Given the description of an element on the screen output the (x, y) to click on. 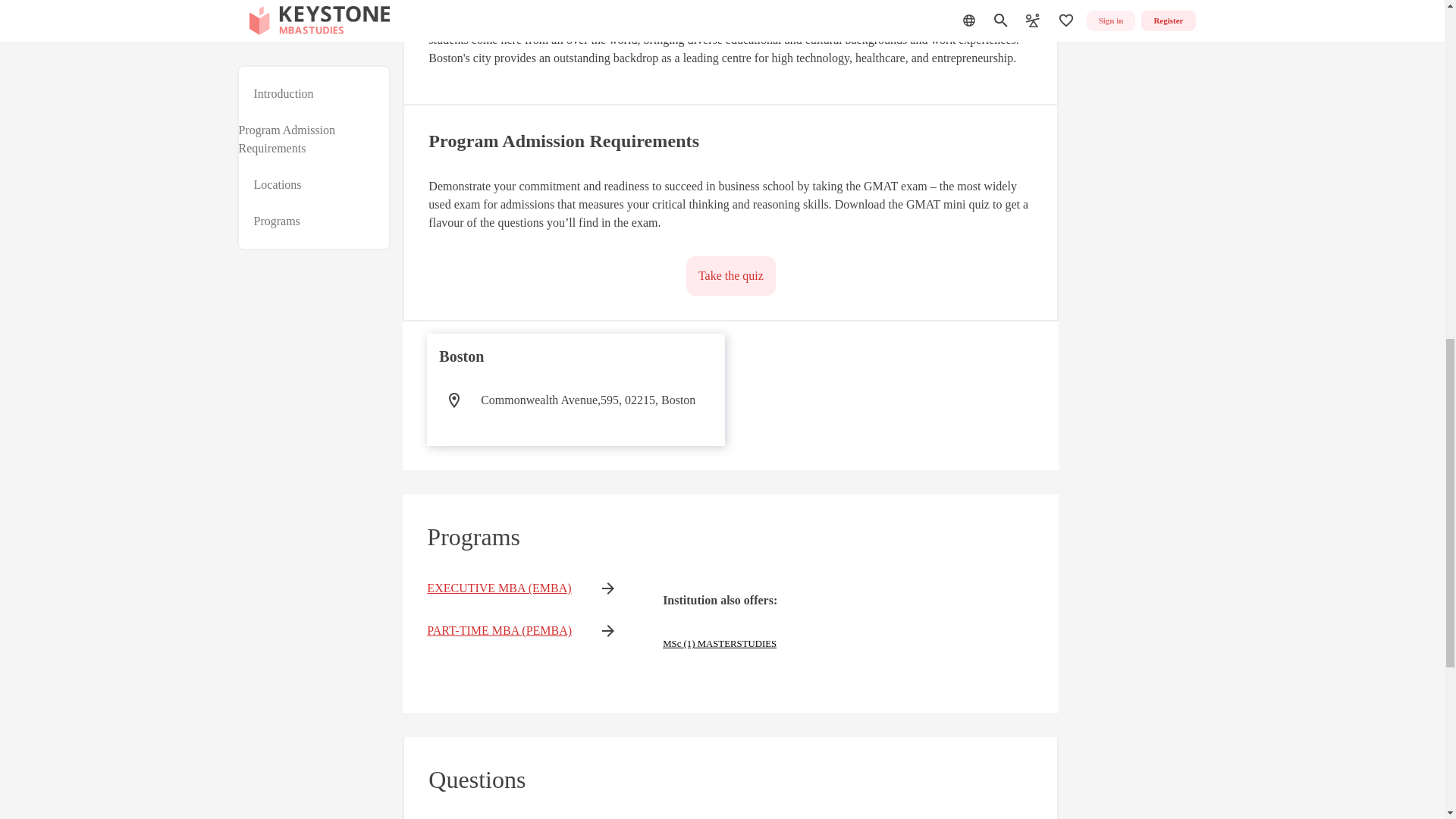
Take the quiz (730, 275)
